Given the description of an element on the screen output the (x, y) to click on. 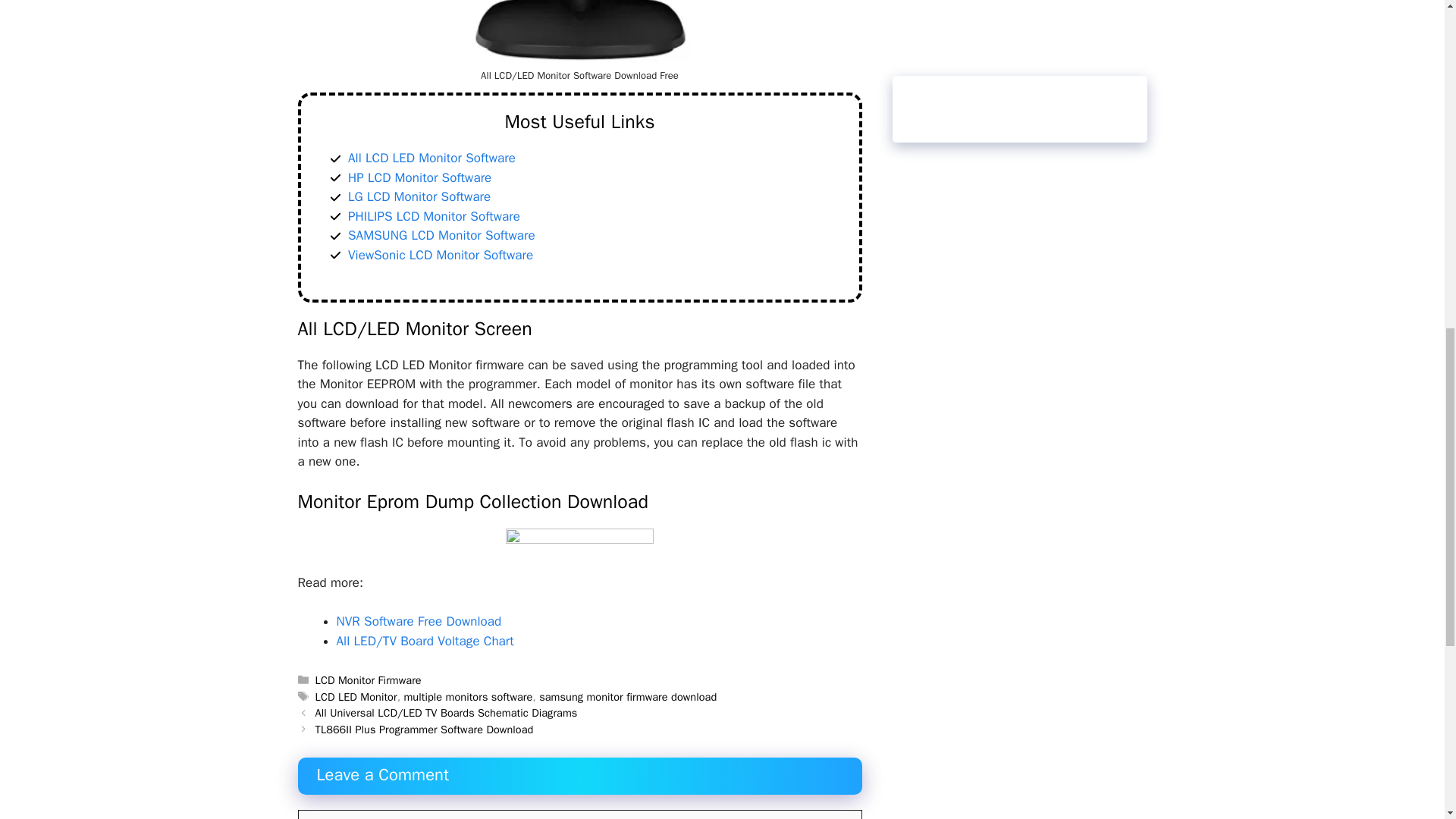
LCD Monitor Firmware (368, 680)
LCD LED Monitor (356, 696)
SAMSUNG LCD Monitor Software (441, 235)
TL866II Plus Programmer Software Download (424, 729)
HP LCD Monitor Software (419, 177)
samsung monitor firmware download (627, 696)
ViewSonic LCD Monitor Software (439, 254)
PHILIPS LCD Monitor Software (433, 216)
LG LCD Monitor Software (418, 196)
NVR Software Free Download (419, 621)
multiple monitors software (467, 696)
All LCD LED Monitor Software (431, 157)
